Given the description of an element on the screen output the (x, y) to click on. 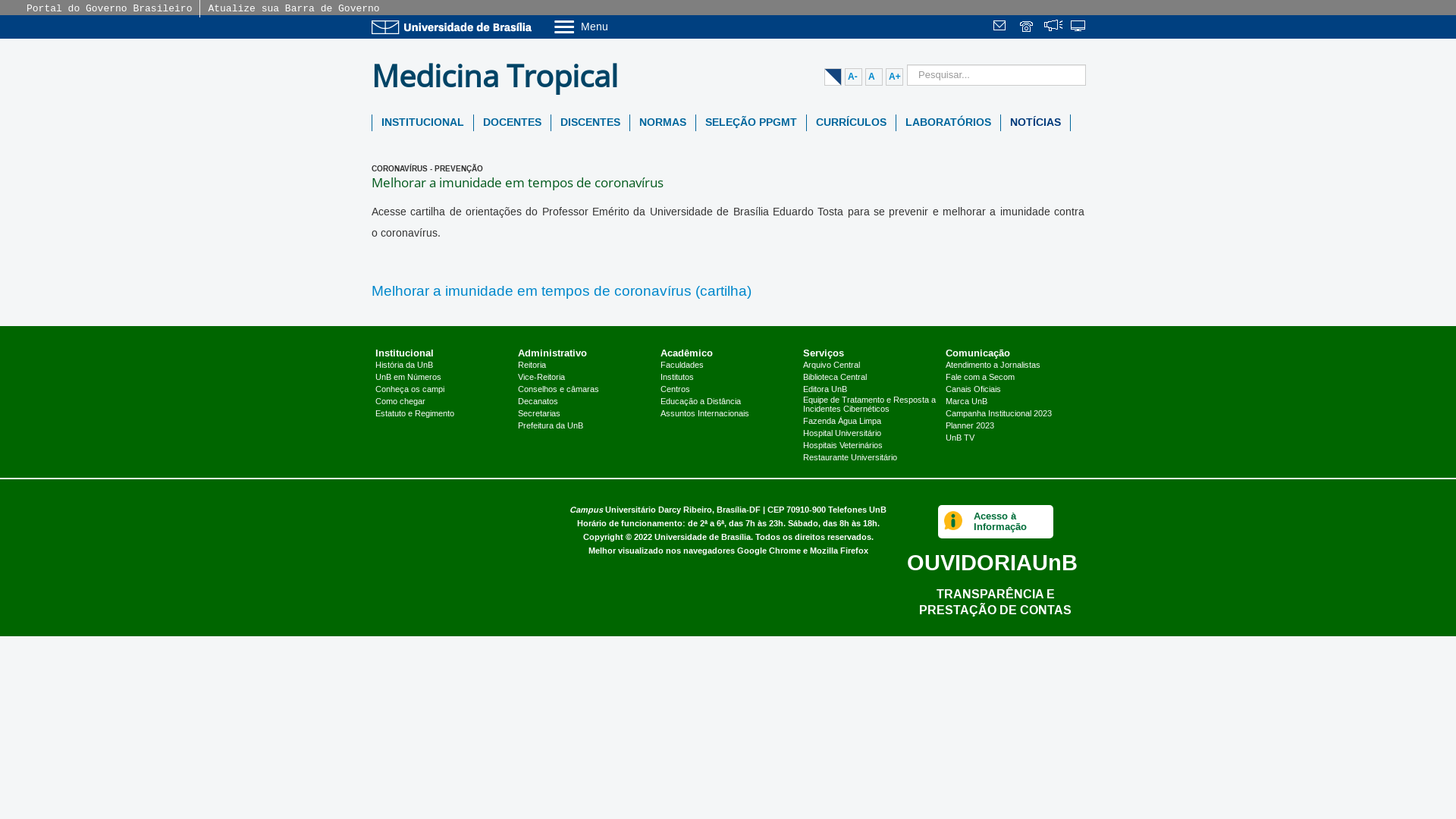
Fale com a Secom Element type: text (979, 377)
DISCENTES Element type: text (590, 122)
A+ Element type: text (894, 76)
Faculdades Element type: text (681, 365)
A- Element type: text (853, 76)
Planner 2023 Element type: text (969, 425)
INSTITUCIONAL Element type: text (422, 122)
Menu Element type: text (619, 25)
UnB TV Element type: text (959, 437)
Atualize sua Barra de Governo Element type: text (293, 8)
Institutos Element type: text (676, 377)
NORMAS Element type: text (662, 122)
Arquivo Central Element type: text (831, 365)
Sistemas Element type: hover (1079, 27)
  Element type: text (1027, 27)
  Element type: text (1079, 27)
Decanatos Element type: text (537, 401)
Assuntos Internacionais Element type: text (704, 413)
Ir para o Portal da UnB Element type: hover (454, 26)
Telefones da UnB Element type: hover (1027, 27)
OUVIDORIAUnB Element type: text (991, 562)
Marca UnB Element type: text (966, 401)
Campanha Institucional 2023 Element type: text (998, 413)
Webmail Element type: hover (1001, 27)
Centros Element type: text (675, 389)
Editora UnB Element type: text (825, 389)
Estatuto e Regimento Element type: text (414, 413)
Prefeitura da UnB Element type: text (550, 425)
Biblioteca Central Element type: text (834, 377)
Portal do Governo Brasileiro Element type: text (108, 8)
Reitoria Element type: text (531, 365)
A Element type: text (873, 76)
Canais Oficiais Element type: text (973, 389)
  Element type: text (1001, 27)
Secretarias Element type: text (538, 413)
Medicina Tropical Element type: text (500, 75)
Vice-Reitoria Element type: text (540, 377)
DOCENTES Element type: text (511, 122)
Telefones UnB Element type: text (857, 509)
Fala.BR Element type: hover (1053, 27)
  Element type: text (1053, 27)
Atendimento a Jornalistas Element type: text (992, 365)
Como chegar Element type: text (400, 401)
